Given the description of an element on the screen output the (x, y) to click on. 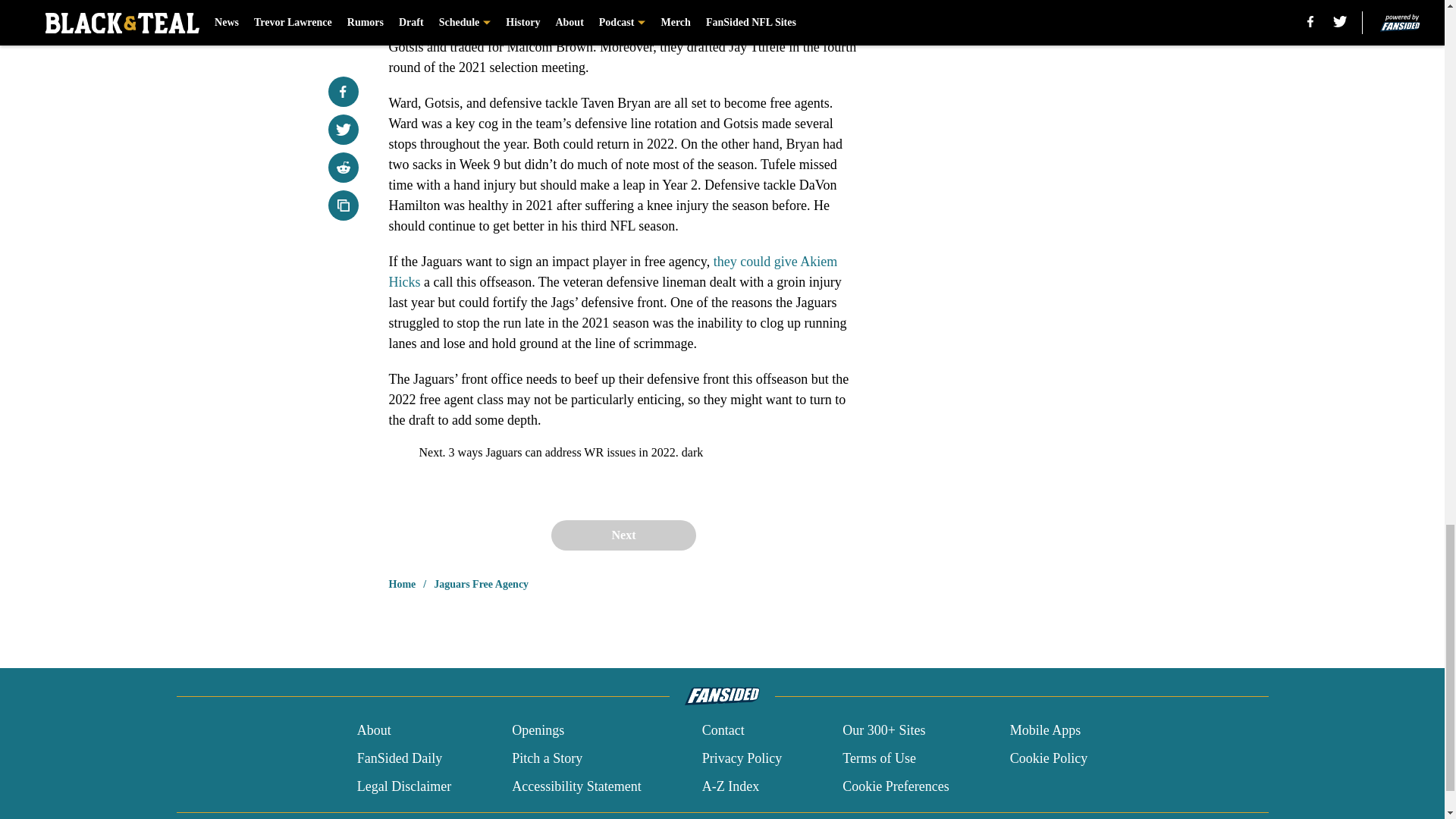
Next (622, 535)
Jaguars Free Agency (480, 584)
Contact (722, 730)
Pitch a Story (547, 758)
Cookie Policy (1048, 758)
Home (401, 584)
they could give Akiem Hicks (612, 271)
About (373, 730)
Openings (538, 730)
FanSided Daily (399, 758)
